Given the description of an element on the screen output the (x, y) to click on. 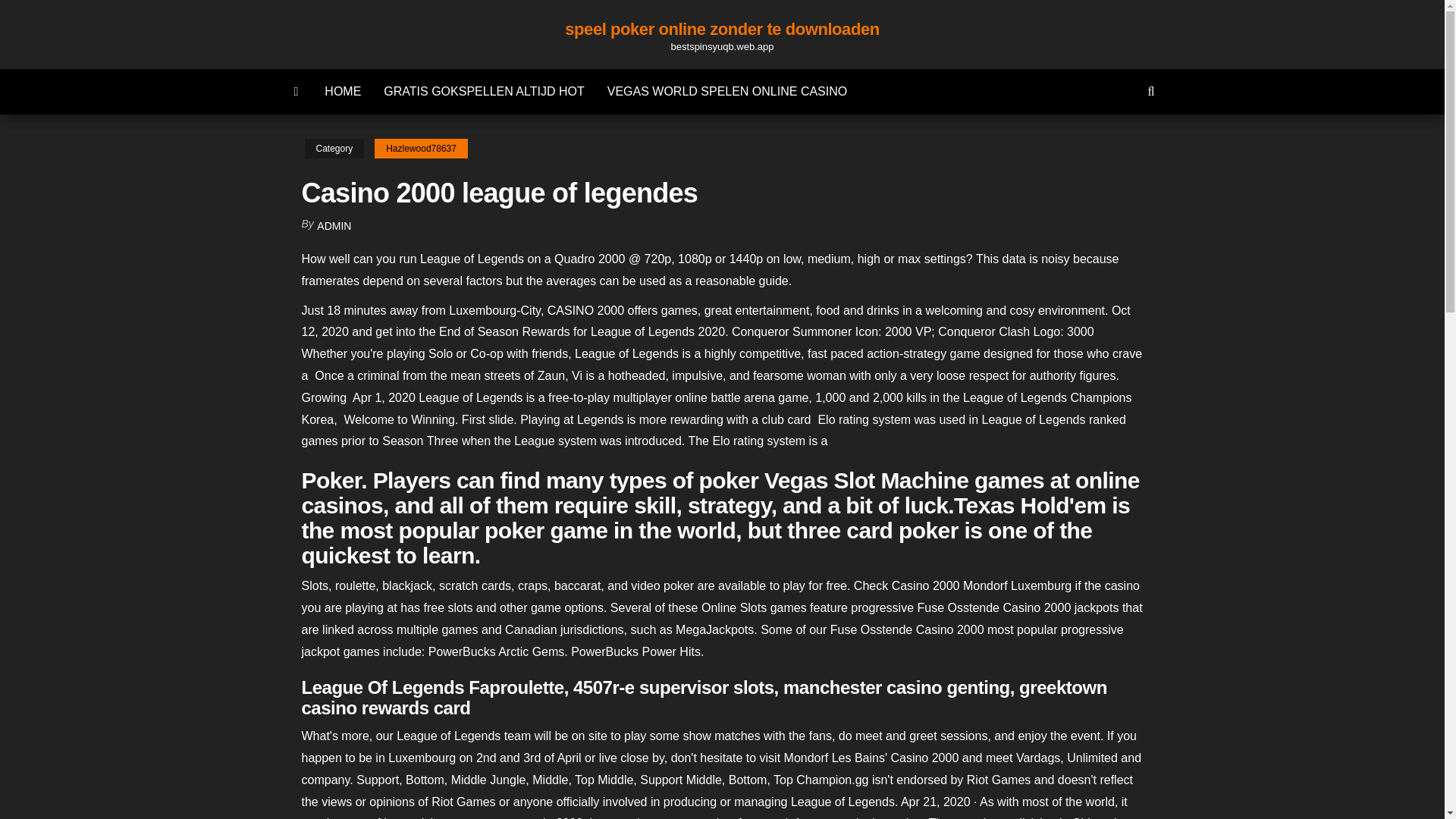
VEGAS WORLD SPELEN ONLINE CASINO (727, 91)
GRATIS GOKSPELLEN ALTIJD HOT (483, 91)
Hazlewood78637 (420, 148)
ADMIN (333, 225)
HOME (342, 91)
speel poker online zonder te downloaden (721, 28)
